Given the description of an element on the screen output the (x, y) to click on. 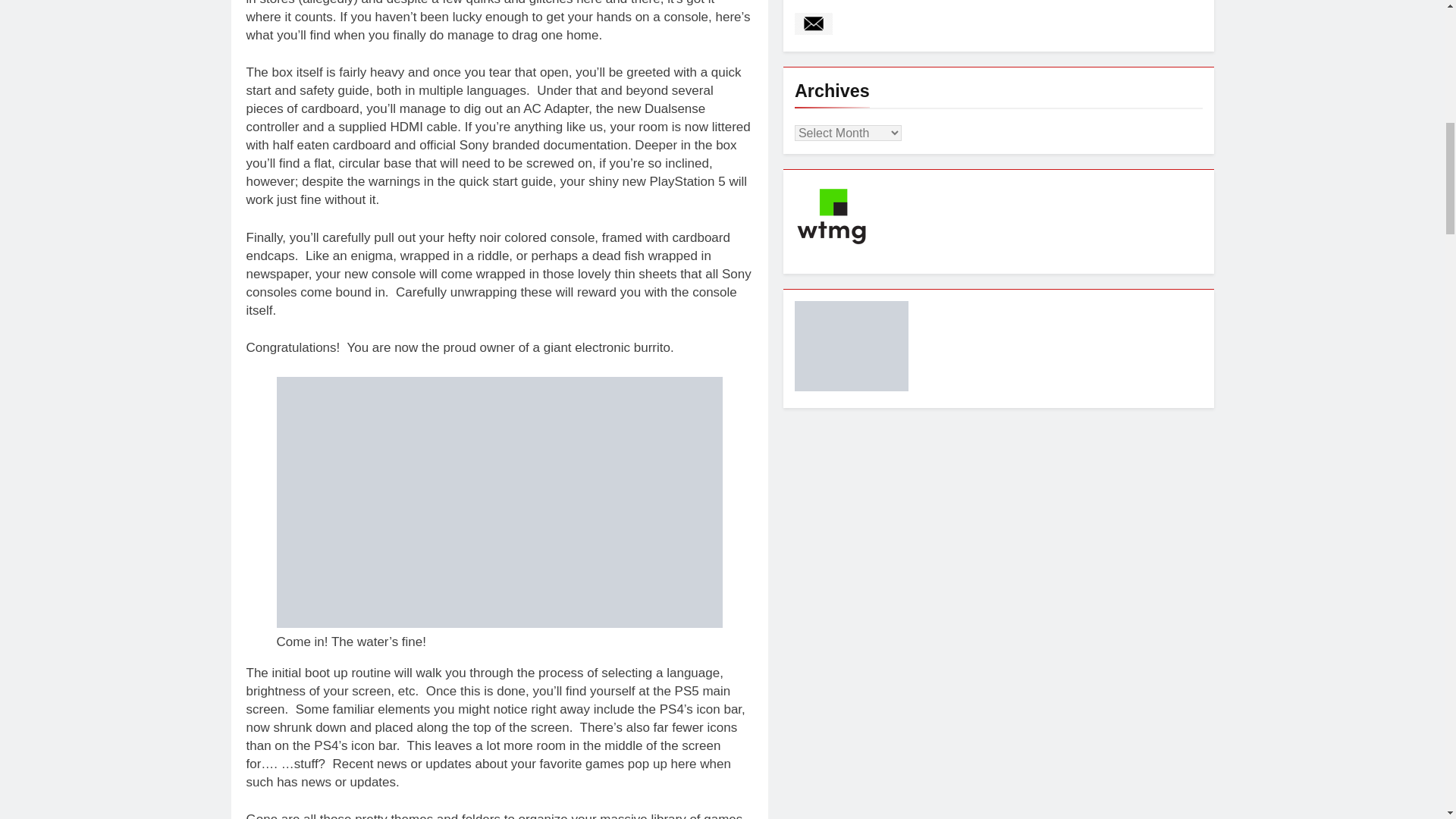
Contact us (813, 24)
